Given the description of an element on the screen output the (x, y) to click on. 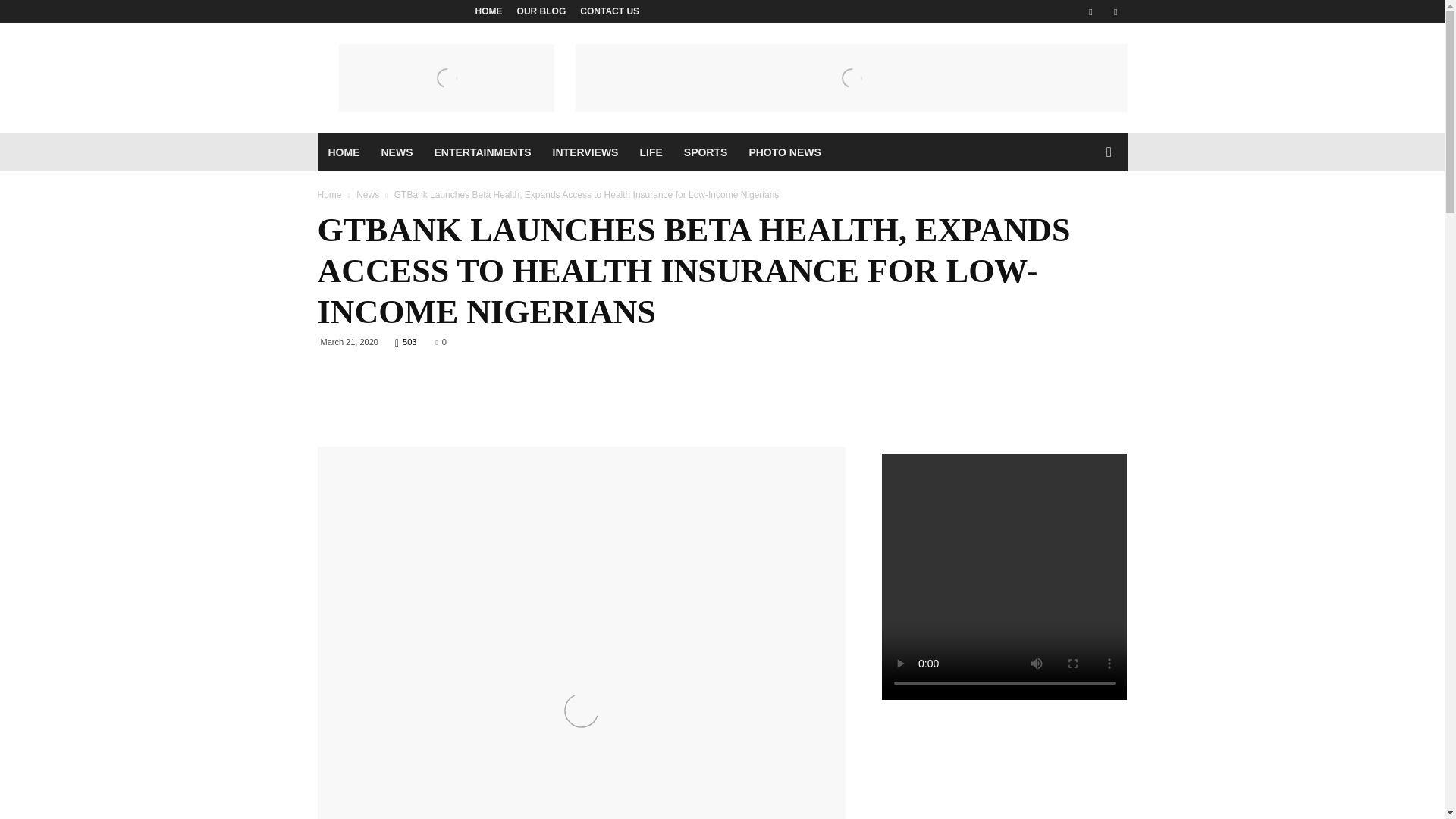
LIFE (650, 152)
Facebook (1090, 11)
CONTACT US (609, 10)
News (367, 194)
HOME (343, 152)
View all posts in News (367, 194)
NEWS (396, 152)
Home (328, 194)
HOME (489, 10)
INTERVIEWS (584, 152)
